Given the description of an element on the screen output the (x, y) to click on. 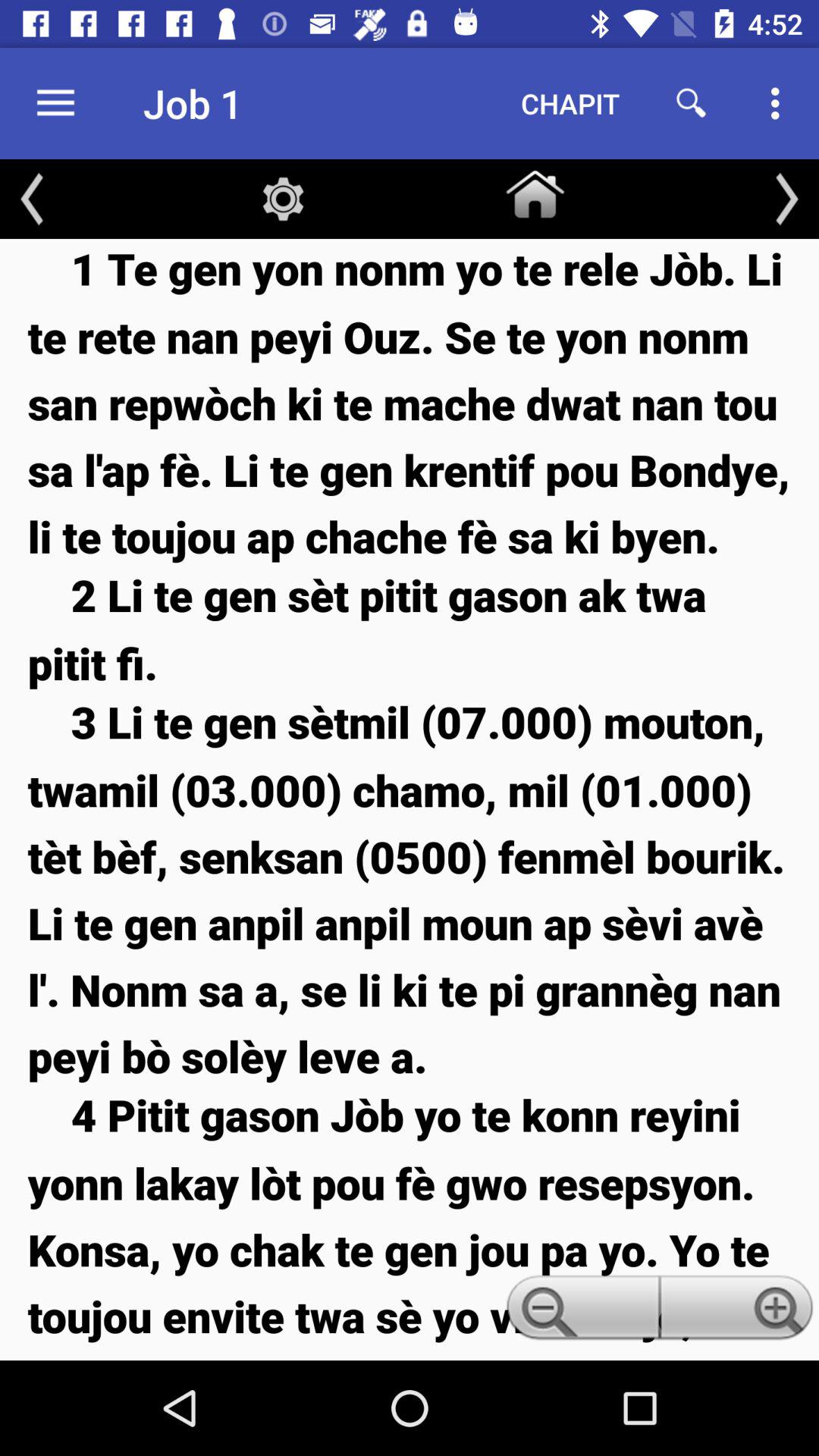
press the item below the 3 li te (739, 1311)
